Given the description of an element on the screen output the (x, y) to click on. 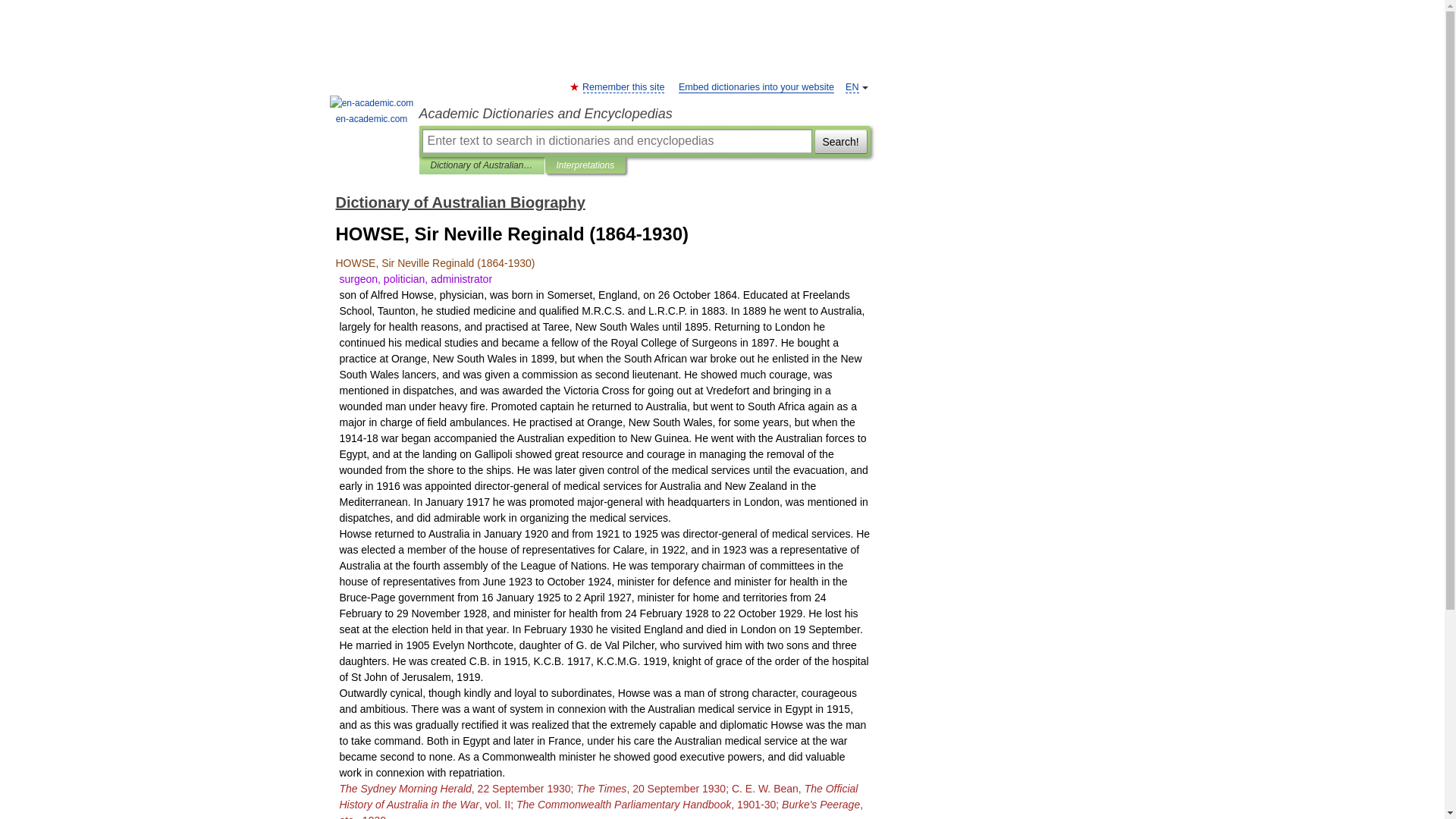
Academic Dictionaries and Encyclopedias (644, 114)
Remember this site (623, 87)
Embed dictionaries into your website (756, 87)
Enter text to search in dictionaries and encyclopedias (616, 140)
Interpretations (585, 165)
EN (852, 87)
en-academic.com (371, 111)
Dictionary of Australian Biography (459, 202)
Search! (840, 140)
Dictionary of Australian Biography (481, 165)
